Given the description of an element on the screen output the (x, y) to click on. 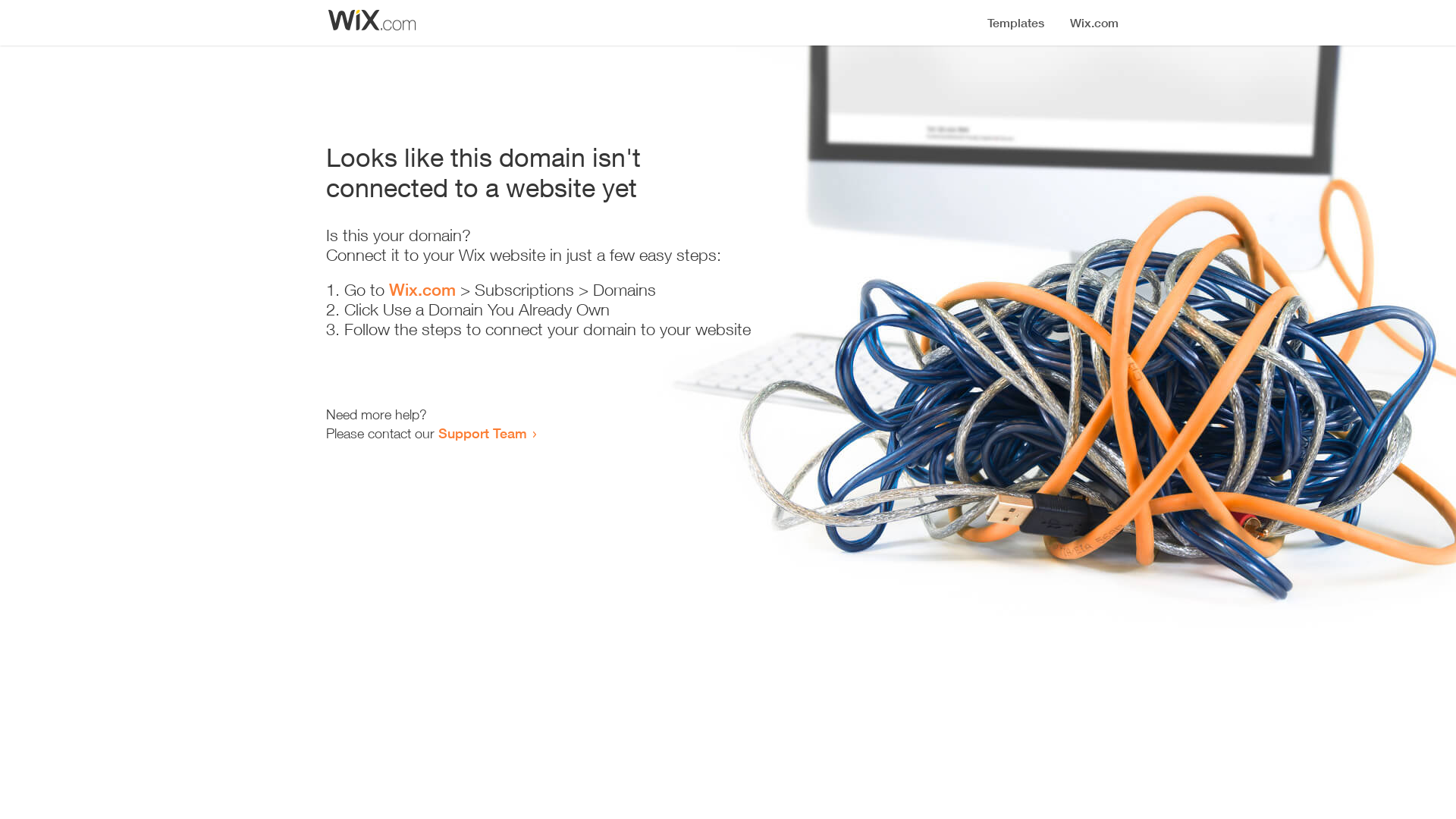
Support Team Element type: text (482, 432)
Wix.com Element type: text (422, 289)
